Given the description of an element on the screen output the (x, y) to click on. 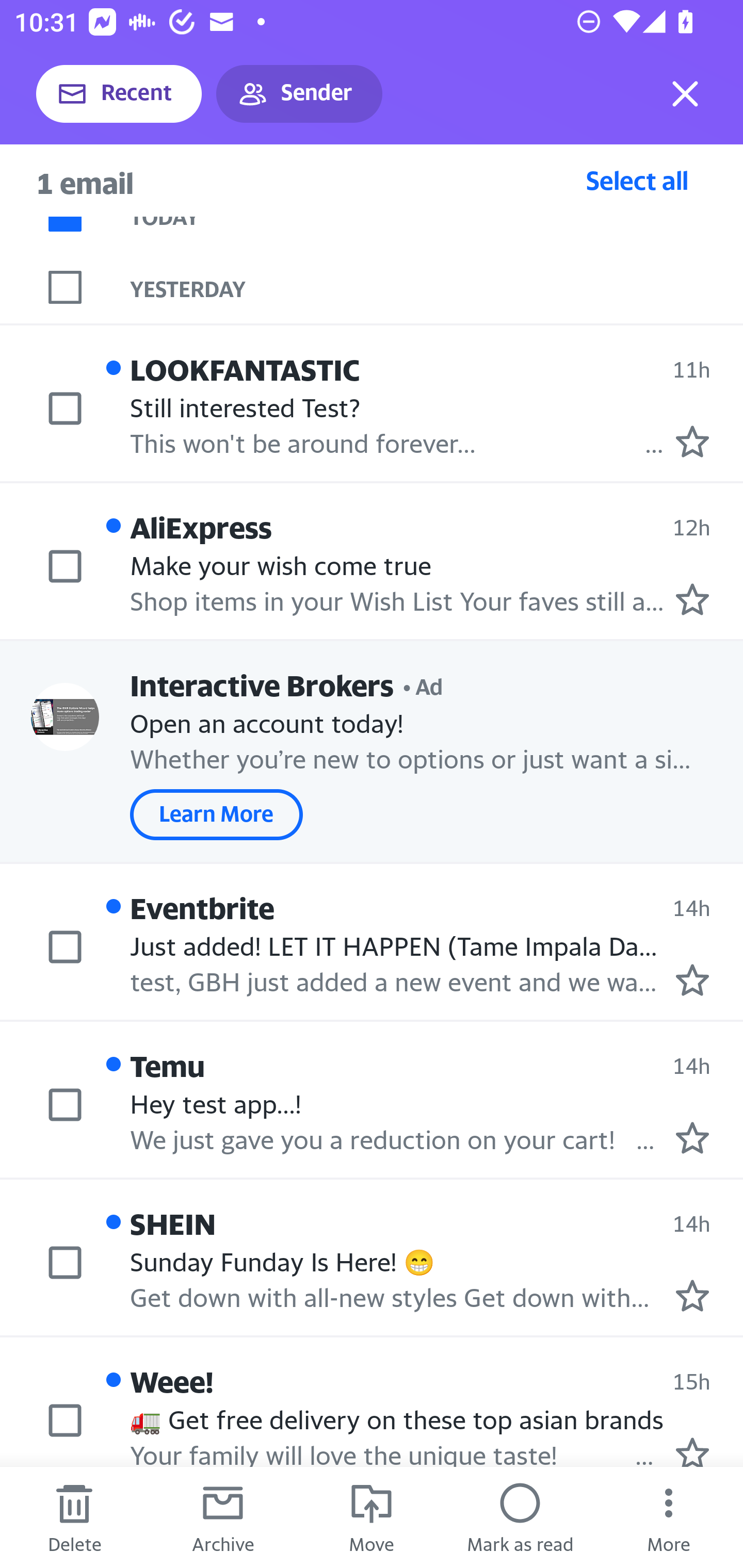
Sender (299, 93)
Exit selection mode (684, 93)
Select all (637, 180)
YESTERDAY (436, 287)
Mark as starred. (692, 441)
Mark as starred. (692, 599)
Mark as starred. (692, 979)
Mark as starred. (692, 1137)
Mark as starred. (692, 1295)
Mark as starred. (692, 1450)
Delete (74, 1517)
Archive (222, 1517)
Move (371, 1517)
Mark as read (519, 1517)
More (668, 1517)
